Given the description of an element on the screen output the (x, y) to click on. 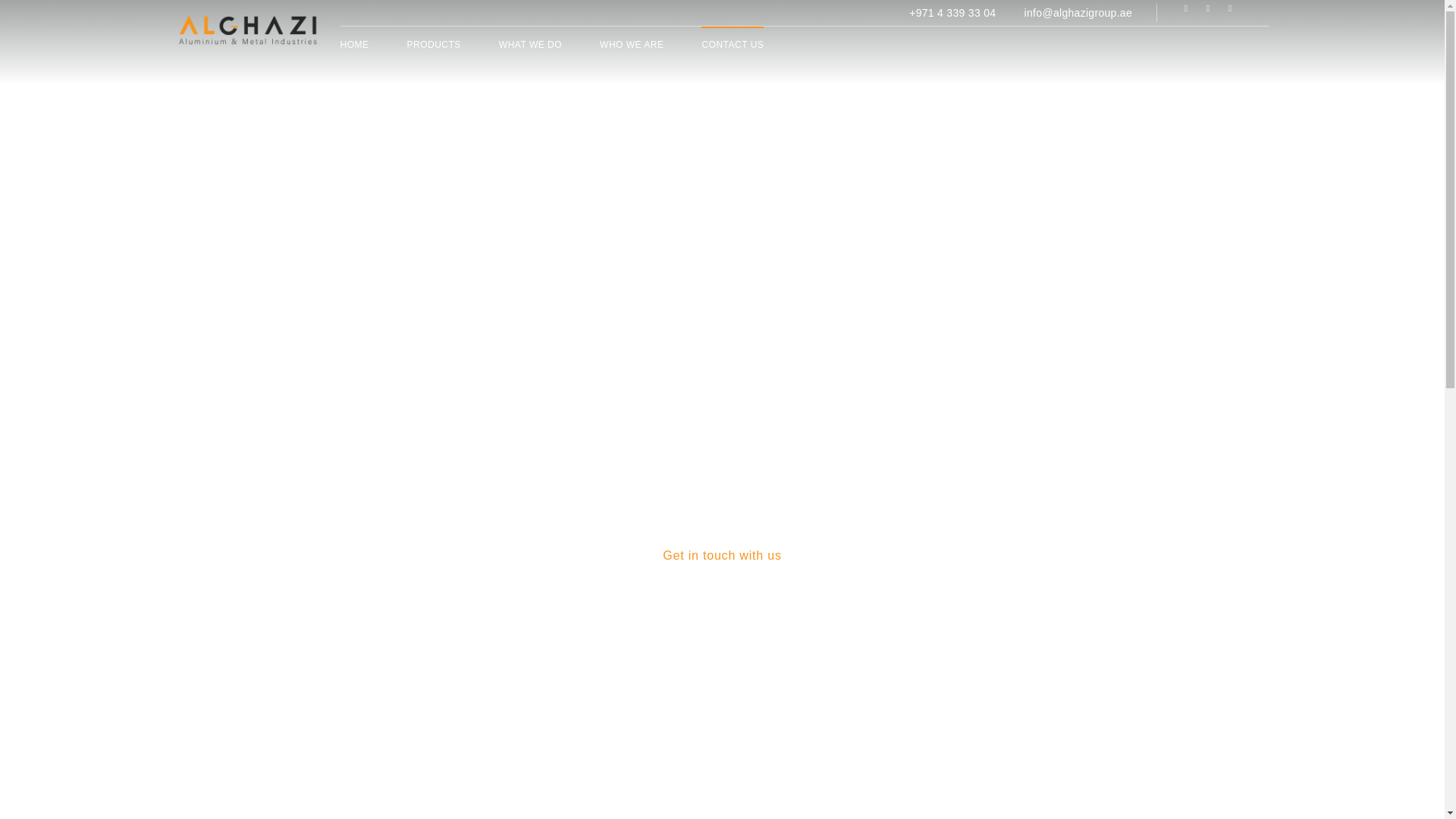
PRODUCTS (433, 43)
CONTACT US (731, 43)
WHO WE ARE (631, 43)
WHAT WE DO (530, 43)
